Given the description of an element on the screen output the (x, y) to click on. 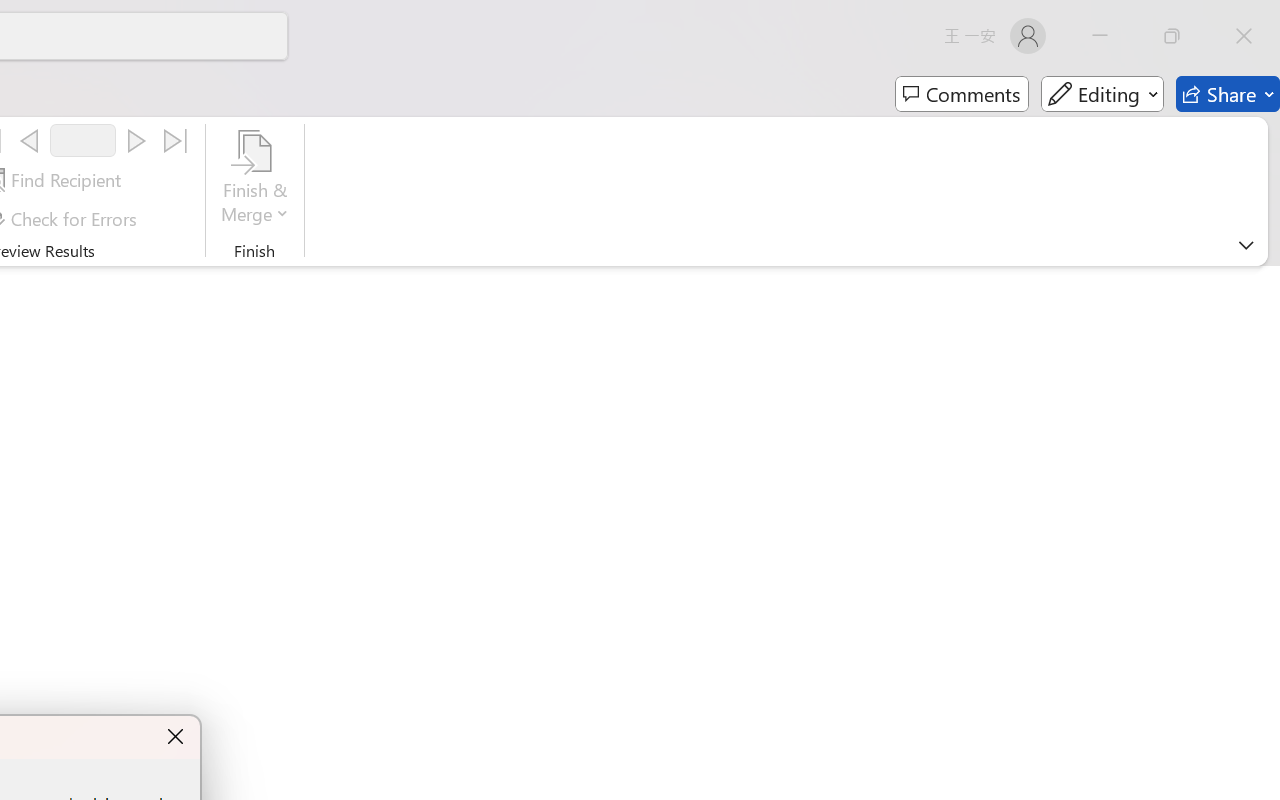
Finish & Merge (255, 179)
Comments (961, 94)
Restore Down (1172, 36)
Close (1244, 36)
Next (136, 141)
Previous (29, 141)
Ribbon Display Options (1246, 245)
Last (175, 141)
Editing (1101, 94)
Share (1228, 94)
Minimize (1099, 36)
Record (83, 140)
